Given the description of an element on the screen output the (x, y) to click on. 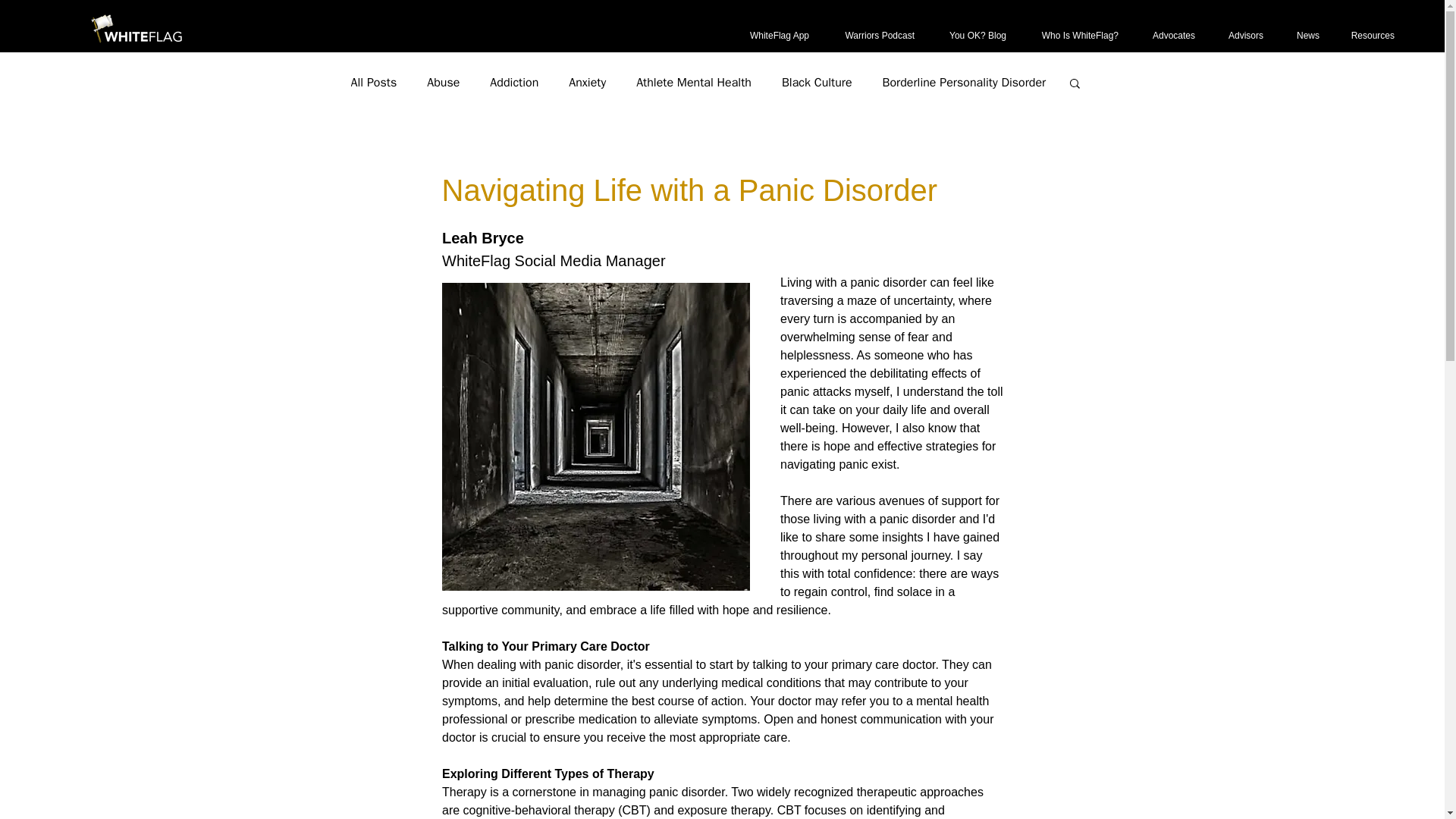
Athlete Mental Health (693, 82)
Resources (1368, 35)
All Posts (373, 82)
WhiteFlag App (771, 35)
Anxiety (587, 82)
Abuse (443, 82)
Who Is WhiteFlag? (1073, 35)
Warriors Podcast (873, 35)
Borderline Personality Disorder (964, 82)
Advisors (1241, 35)
